Given the description of an element on the screen output the (x, y) to click on. 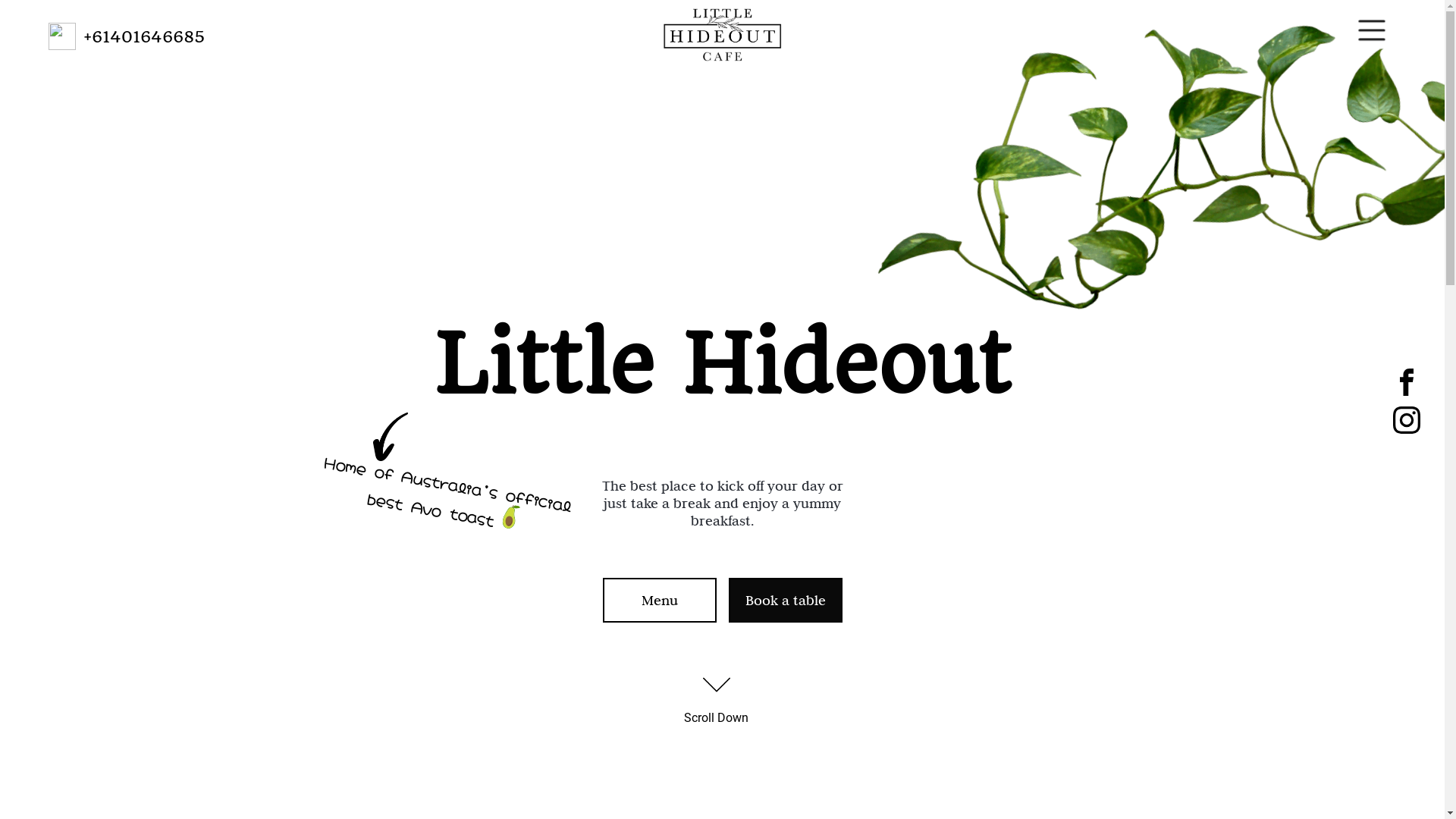
Menu Element type: text (658, 599)
+61401646685 Element type: text (143, 36)
Book a table Element type: text (784, 599)
